Given the description of an element on the screen output the (x, y) to click on. 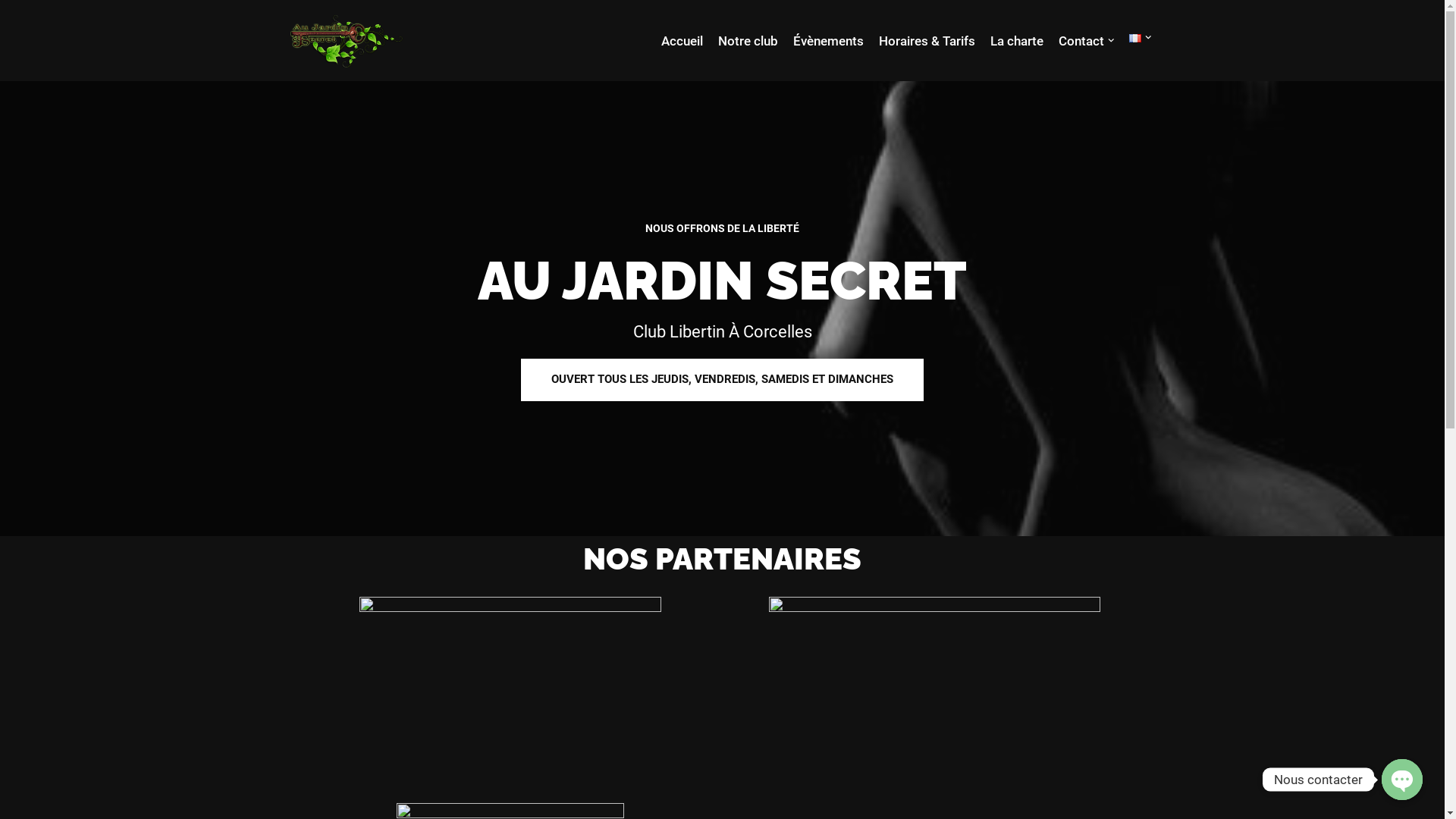
Contact Element type: text (1081, 40)
Notre club Element type: text (747, 40)
OUVERT TOUS LES JEUDIS, VENDREDIS, SAMEDIS ET DIMANCHES Element type: text (721, 379)
Accueil Element type: text (681, 40)
Aller au contenu Element type: text (11, 31)
Horaires & Tarifs Element type: text (926, 40)
La charte Element type: text (1016, 40)
